Given the description of an element on the screen output the (x, y) to click on. 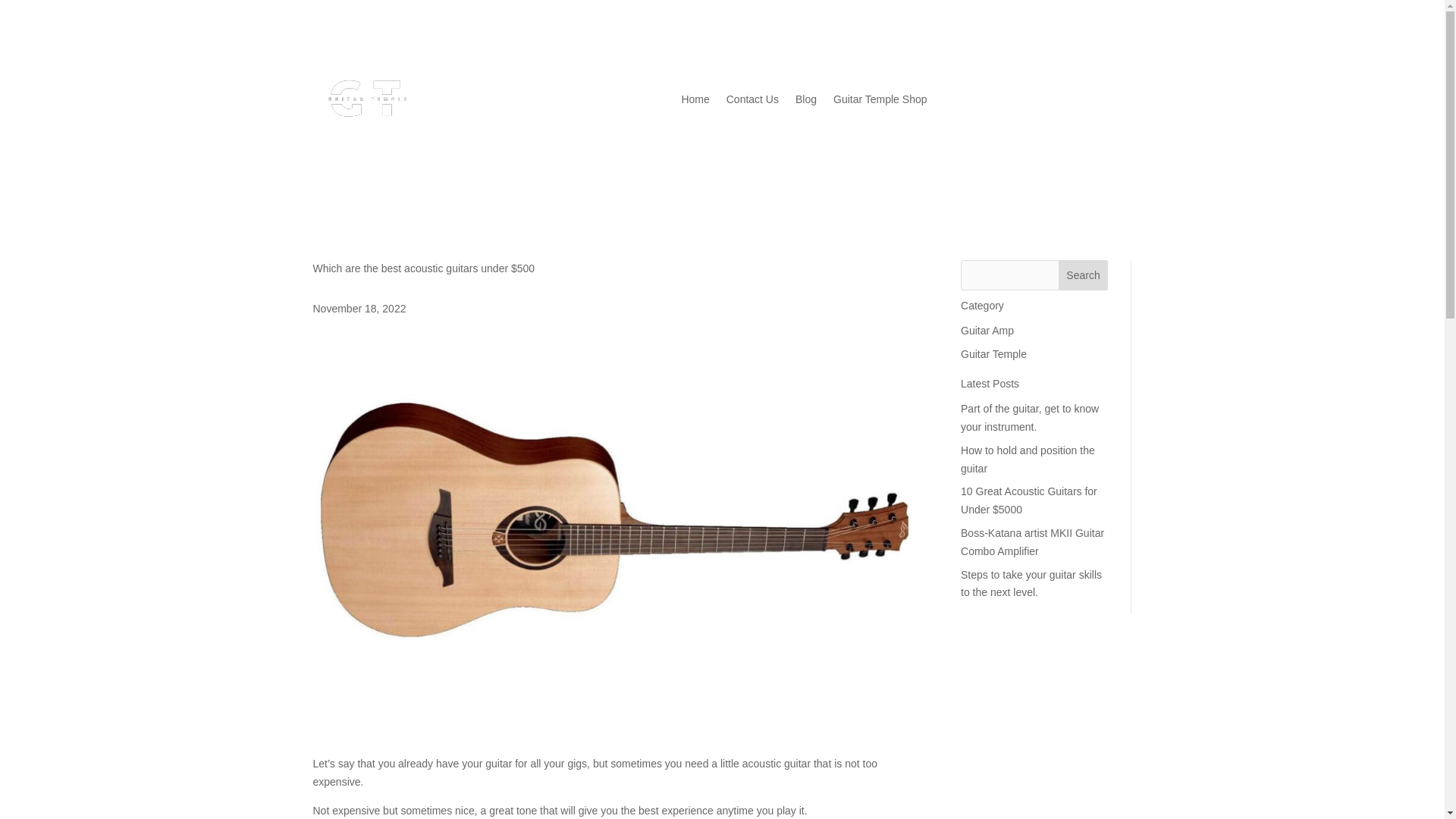
Follow on Facebook (997, 73)
Follow on Instagram (1058, 73)
Part of the guitar, get to know your instrument. (1029, 417)
Follow on Youtube (1118, 73)
Guitar Temple Shop (879, 99)
Boss-Katana artist MKII Guitar Combo Amplifier (1031, 542)
Search (1083, 275)
How to hold and position the guitar (1027, 459)
Follow on Twitter (1028, 73)
